Given the description of an element on the screen output the (x, y) to click on. 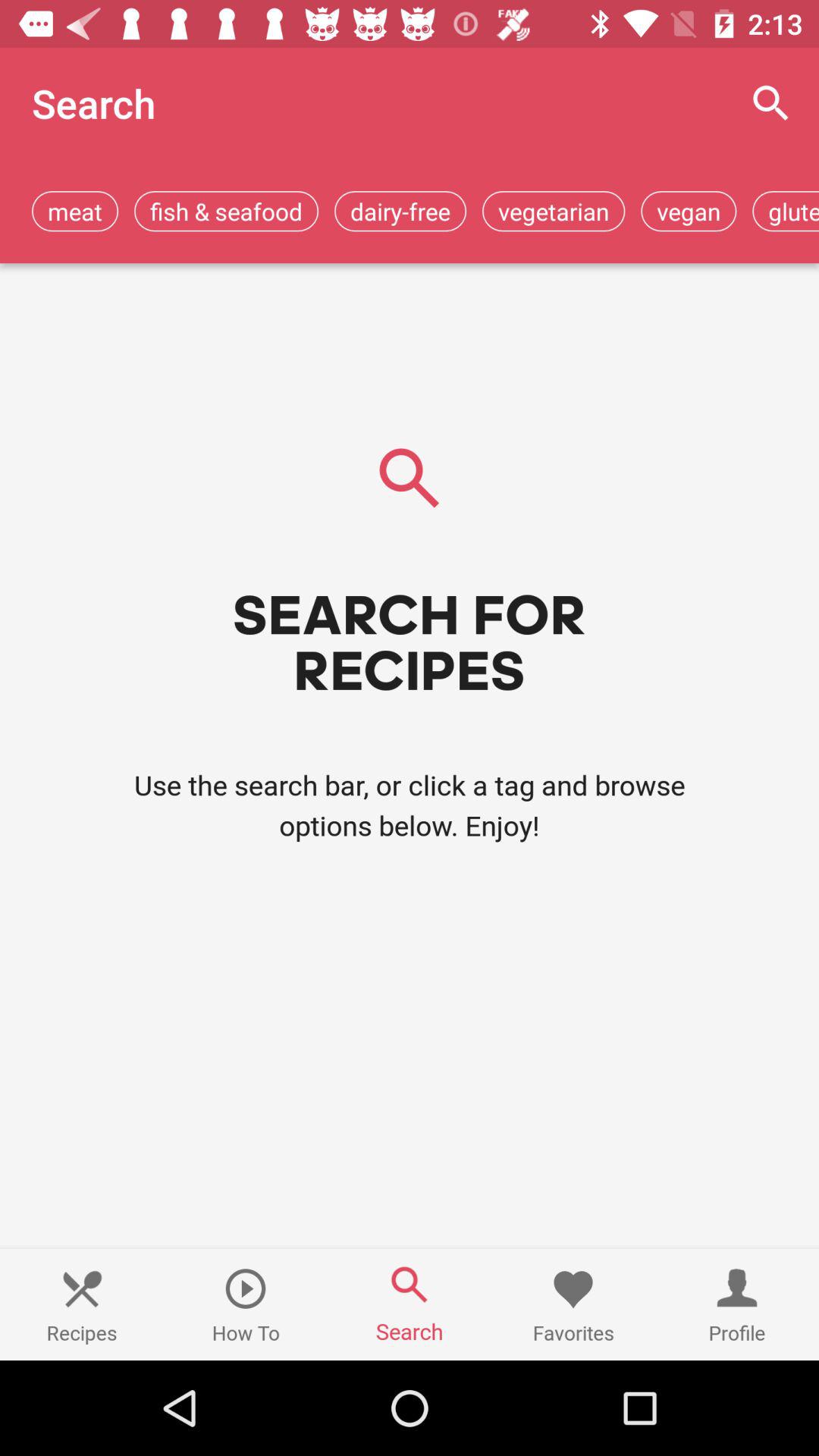
click item above search for recipes icon (688, 211)
